Given the description of an element on the screen output the (x, y) to click on. 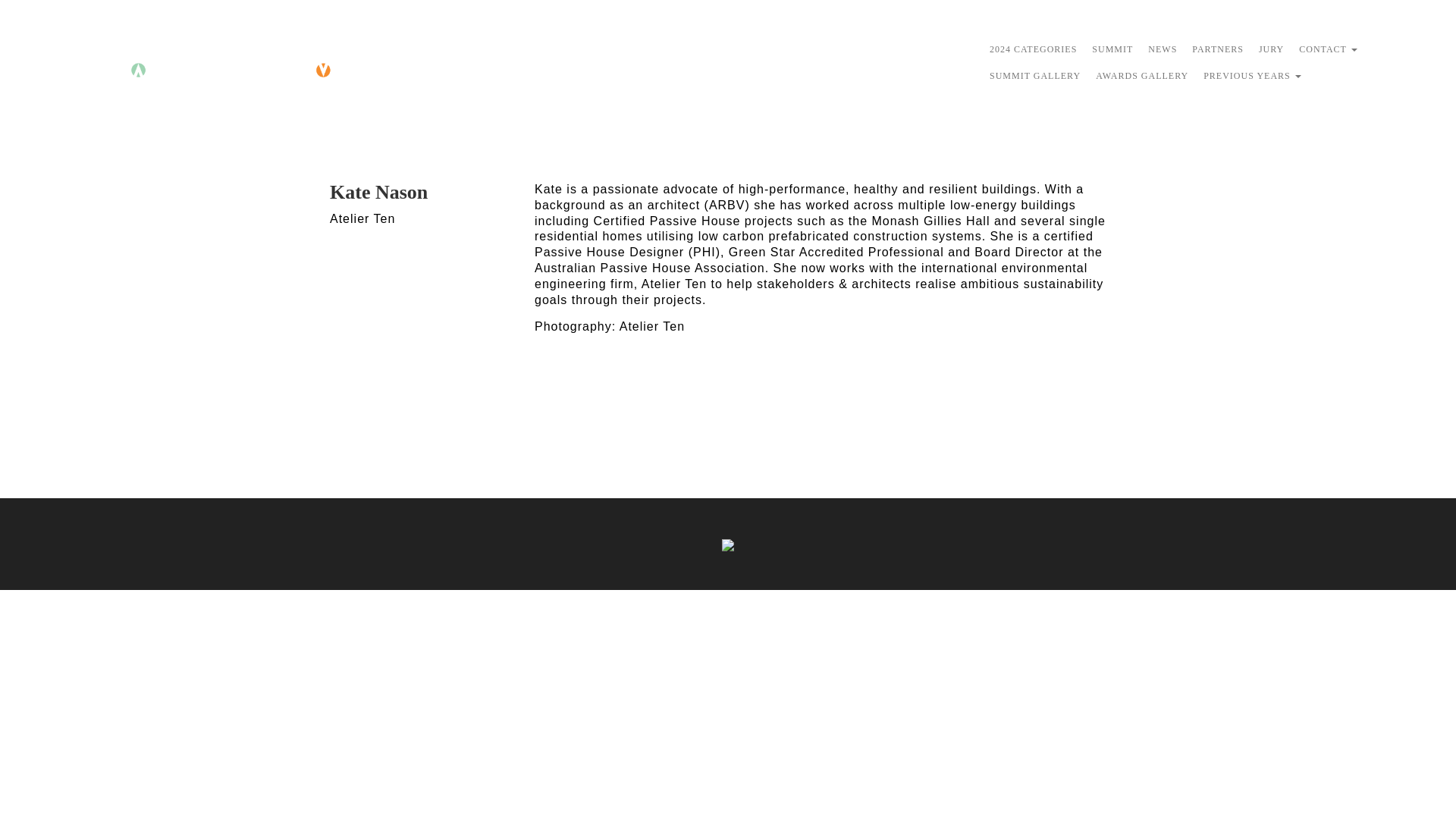
JURY (1270, 50)
SUMMIT (1112, 50)
AWARDS GALLERY (1141, 77)
PARTNERS (1217, 50)
SUMMIT GALLERY (1034, 77)
NEWS (1162, 50)
2024 CATEGORIES (1032, 50)
CONTACT (1328, 50)
PREVIOUS YEARS (1251, 77)
